Given the description of an element on the screen output the (x, y) to click on. 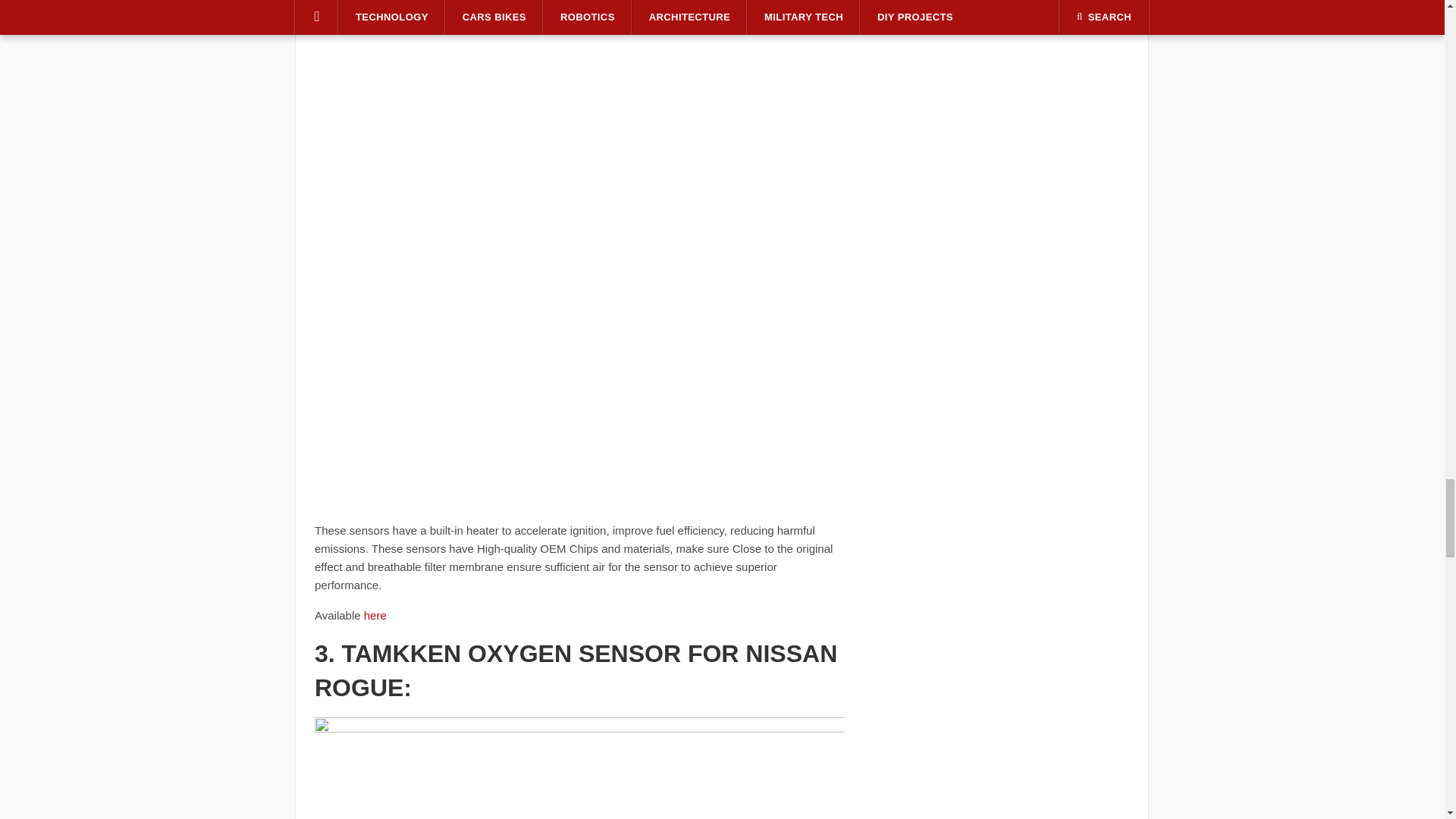
here (375, 615)
